Given the description of an element on the screen output the (x, y) to click on. 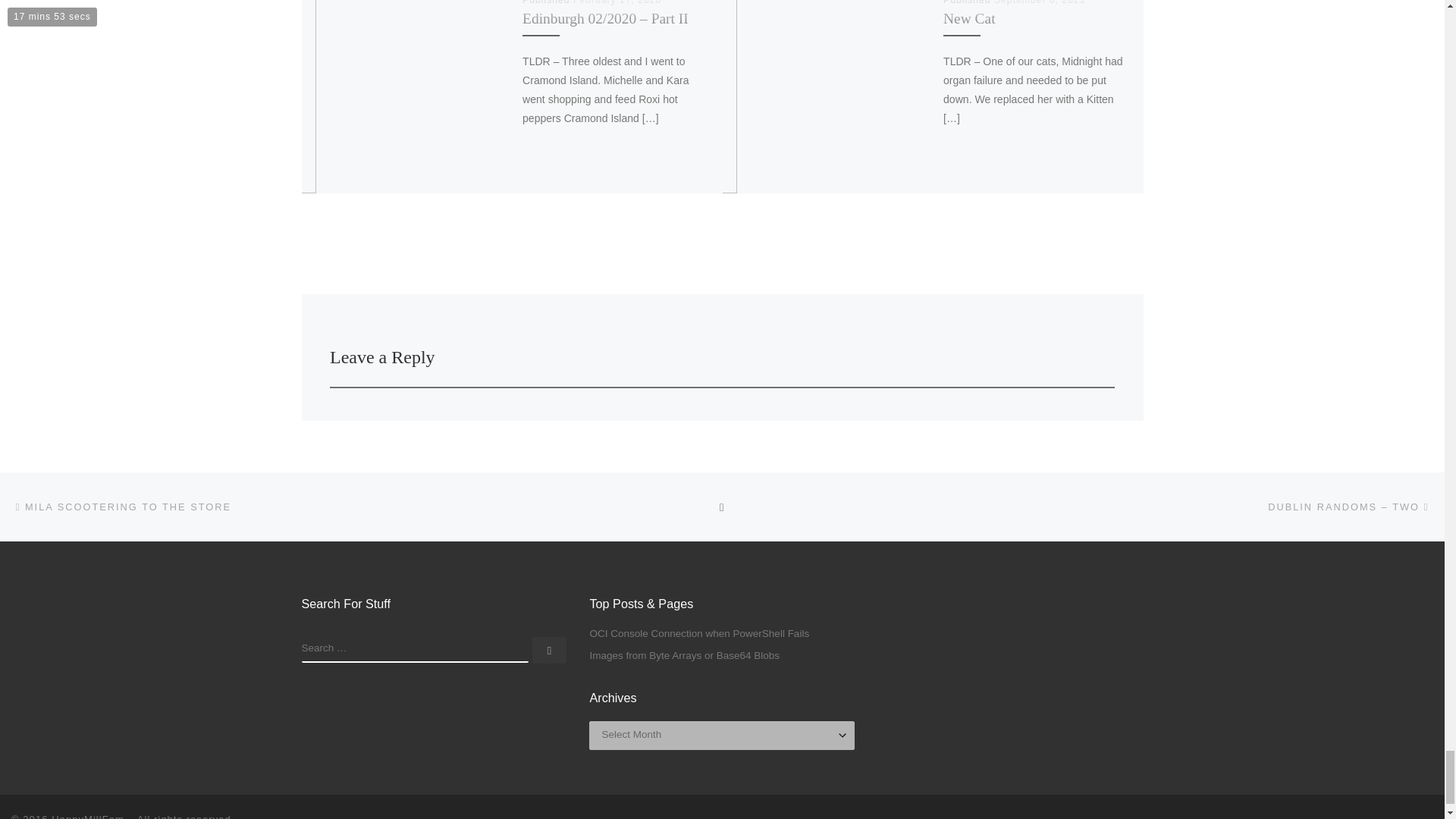
February 17, 2020 (617, 2)
